Given the description of an element on the screen output the (x, y) to click on. 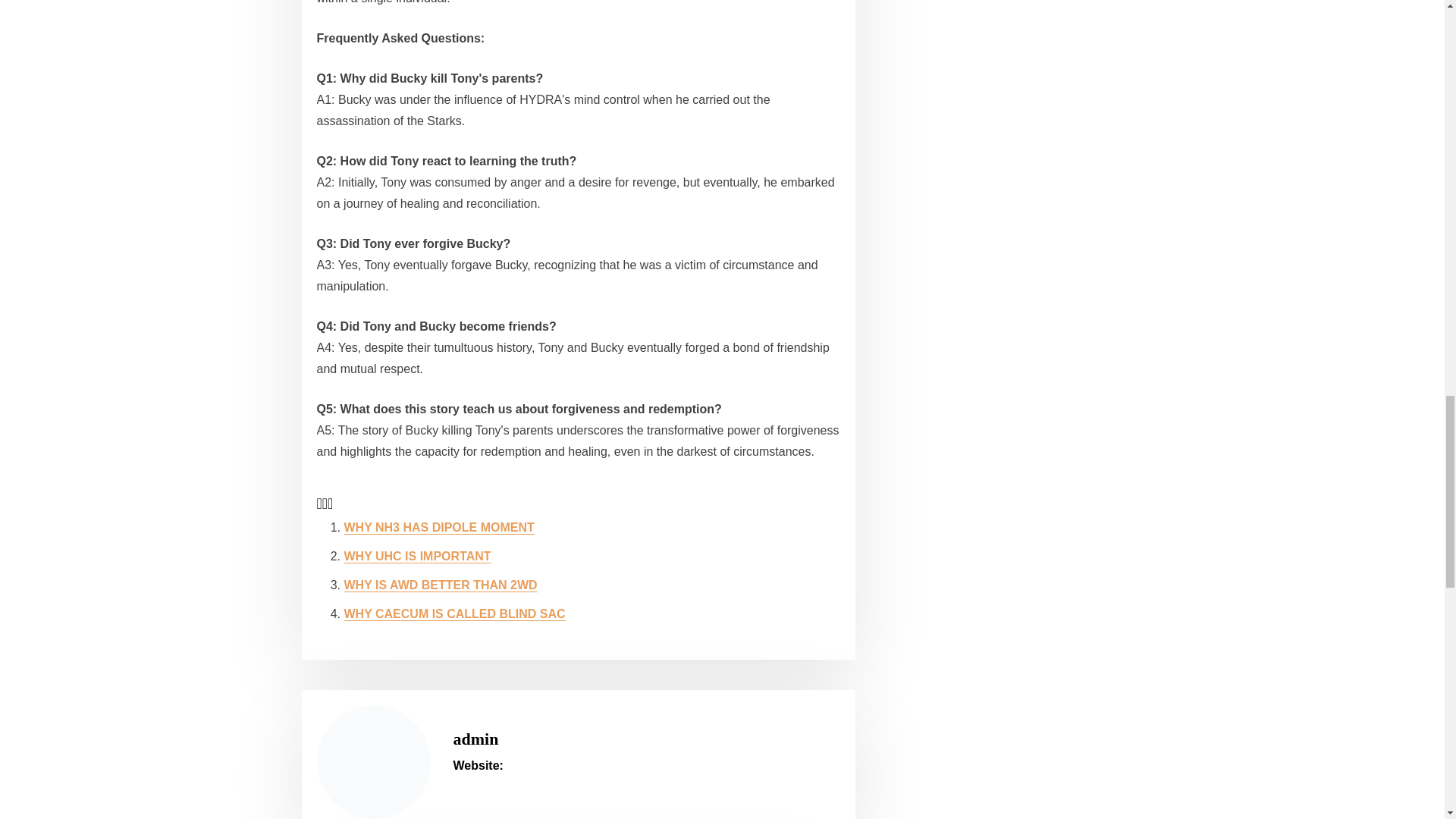
WHY NH3 HAS DIPOLE MOMENT (438, 526)
WHY UHC IS IMPORTANT (417, 555)
WHY IS AWD BETTER THAN 2WD (440, 584)
WHY UHC IS IMPORTANT (417, 555)
WHY CAECUM IS CALLED BLIND SAC (454, 613)
WHY NH3 HAS DIPOLE MOMENT (438, 526)
WHY IS AWD BETTER THAN 2WD (440, 584)
WHY CAECUM IS CALLED BLIND SAC (454, 613)
